Given the description of an element on the screen output the (x, y) to click on. 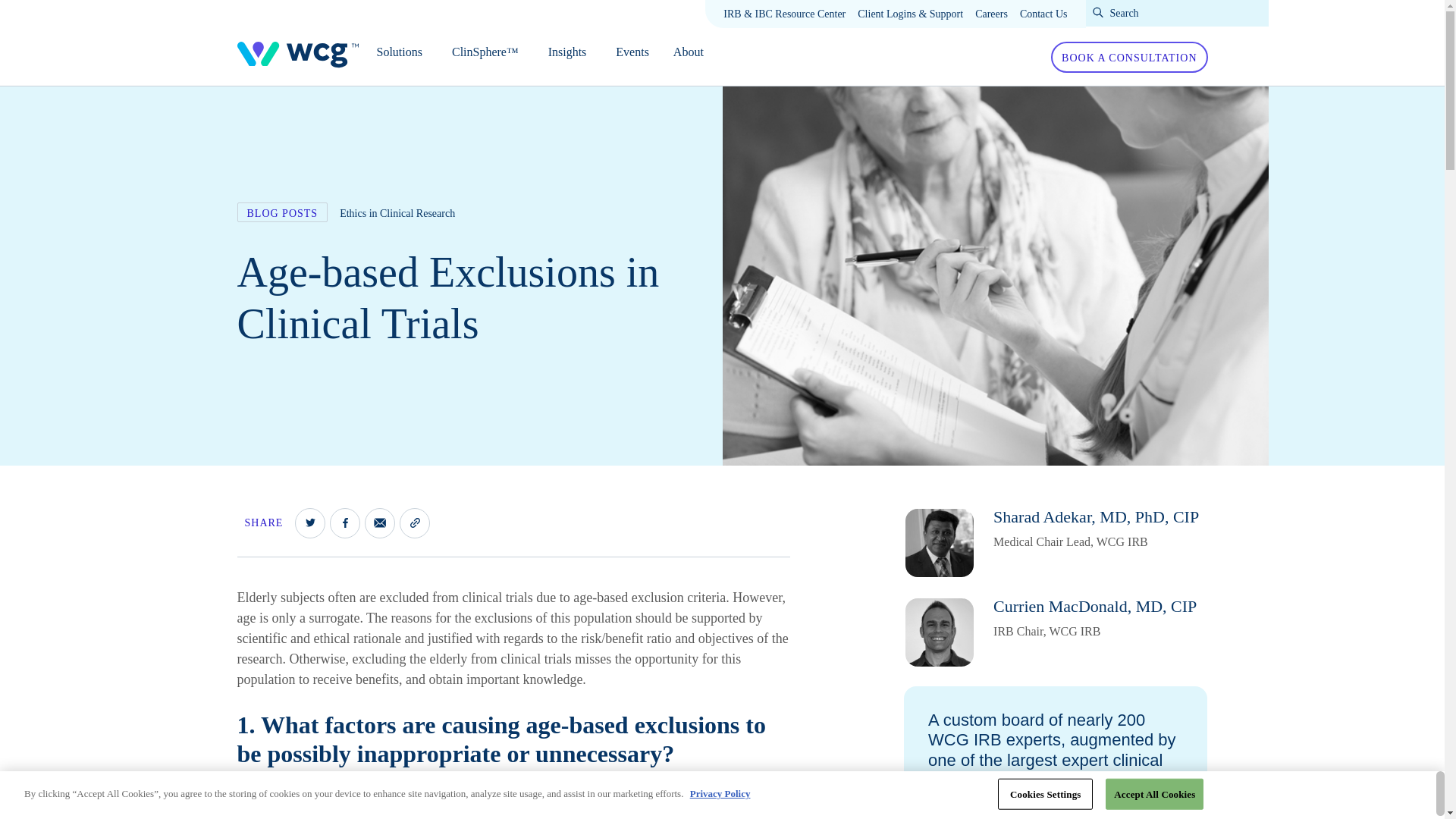
Share on Facebook (344, 522)
Solutions (404, 56)
Copy Link (413, 522)
Contact Us (1043, 13)
Share via Email (379, 522)
Careers (991, 13)
Share on Twitter (309, 522)
